Given the description of an element on the screen output the (x, y) to click on. 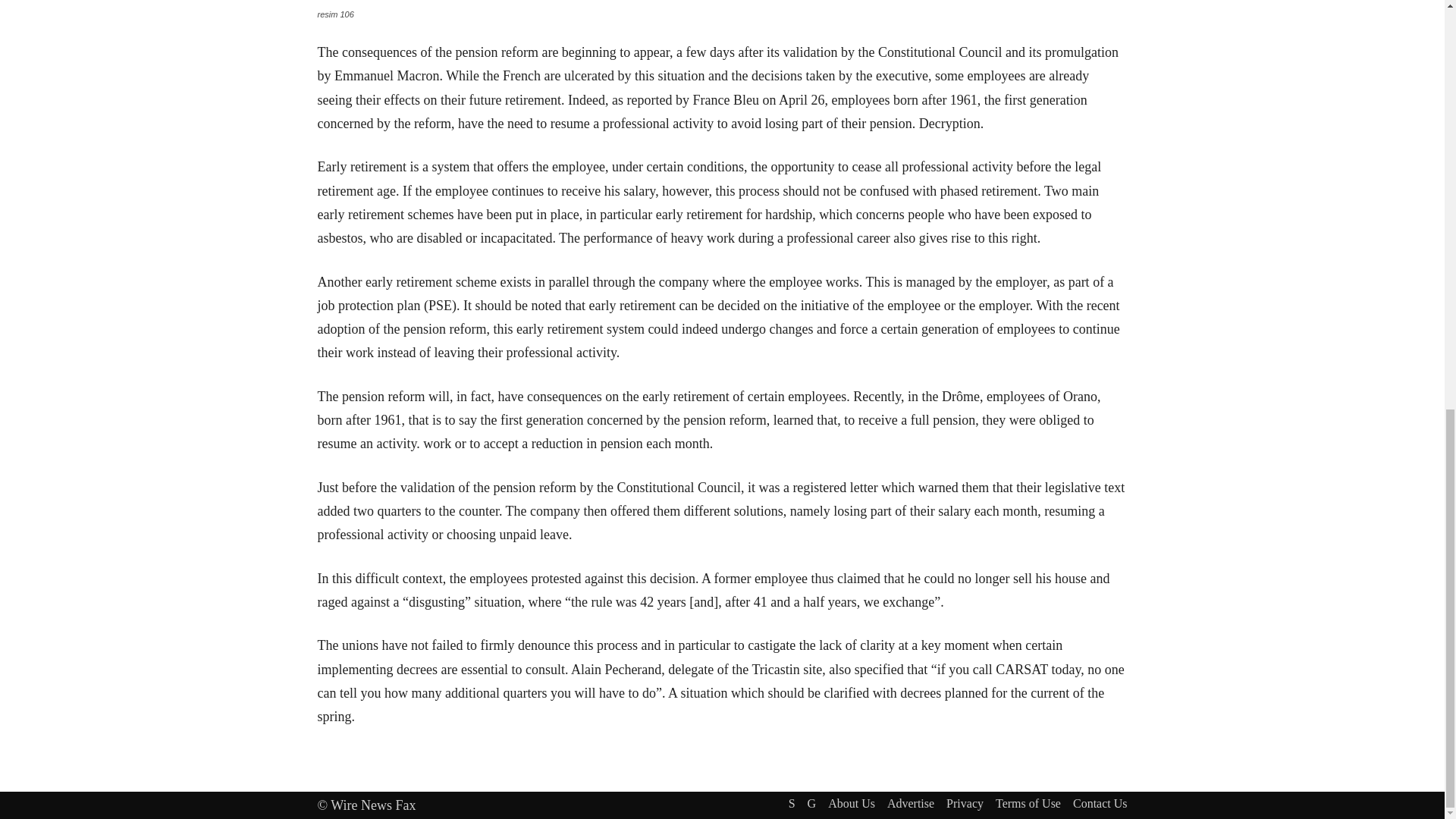
Terms of Use (1028, 802)
About Us (851, 802)
Privacy (965, 802)
Contact Us (1099, 802)
Advertise (910, 802)
